Given the description of an element on the screen output the (x, y) to click on. 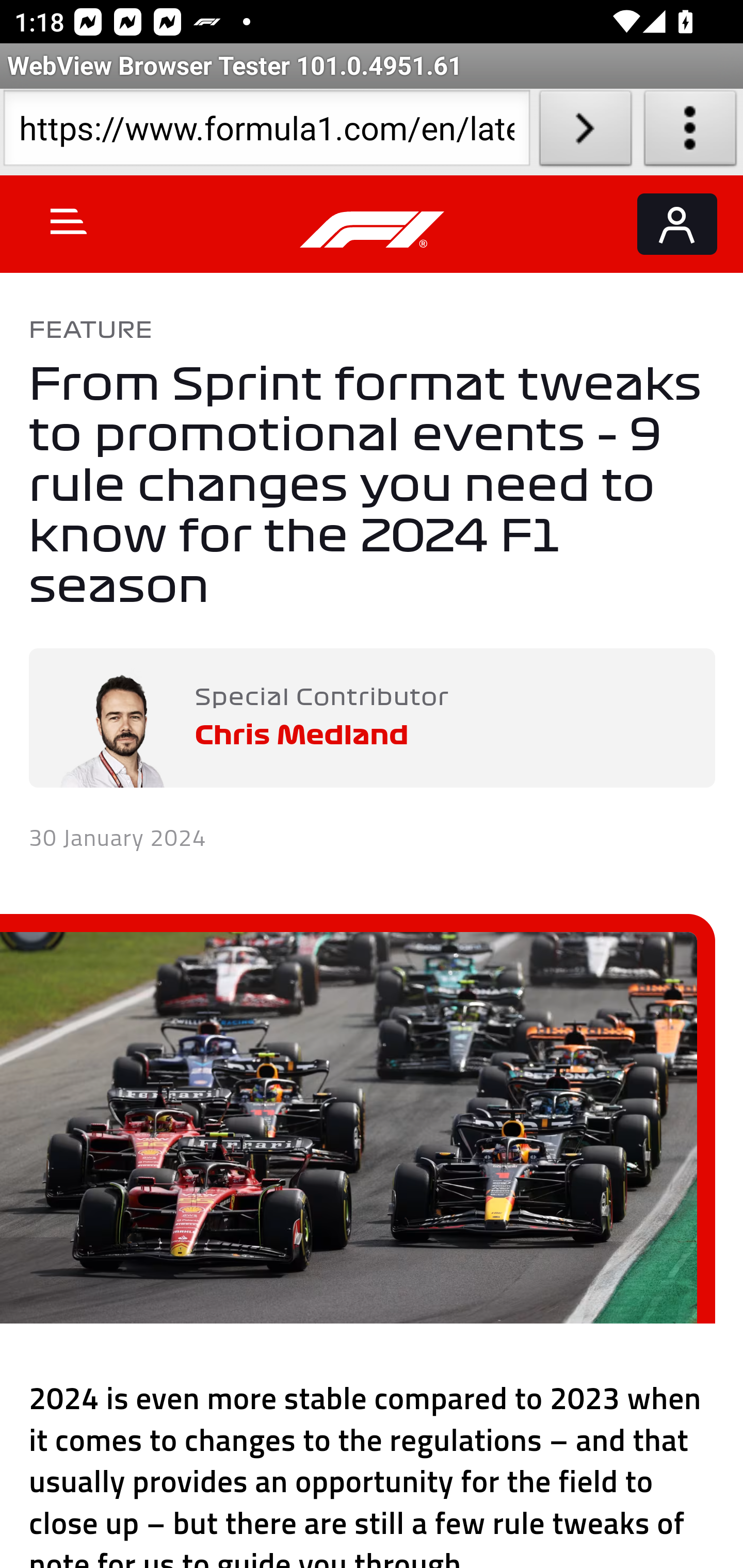
Load URL (585, 132)
About WebView (690, 132)
Toggle Menu (68, 220)
Formula 1 (372, 230)
 Login/Register  Login/Register (677, 223)
